Given the description of an element on the screen output the (x, y) to click on. 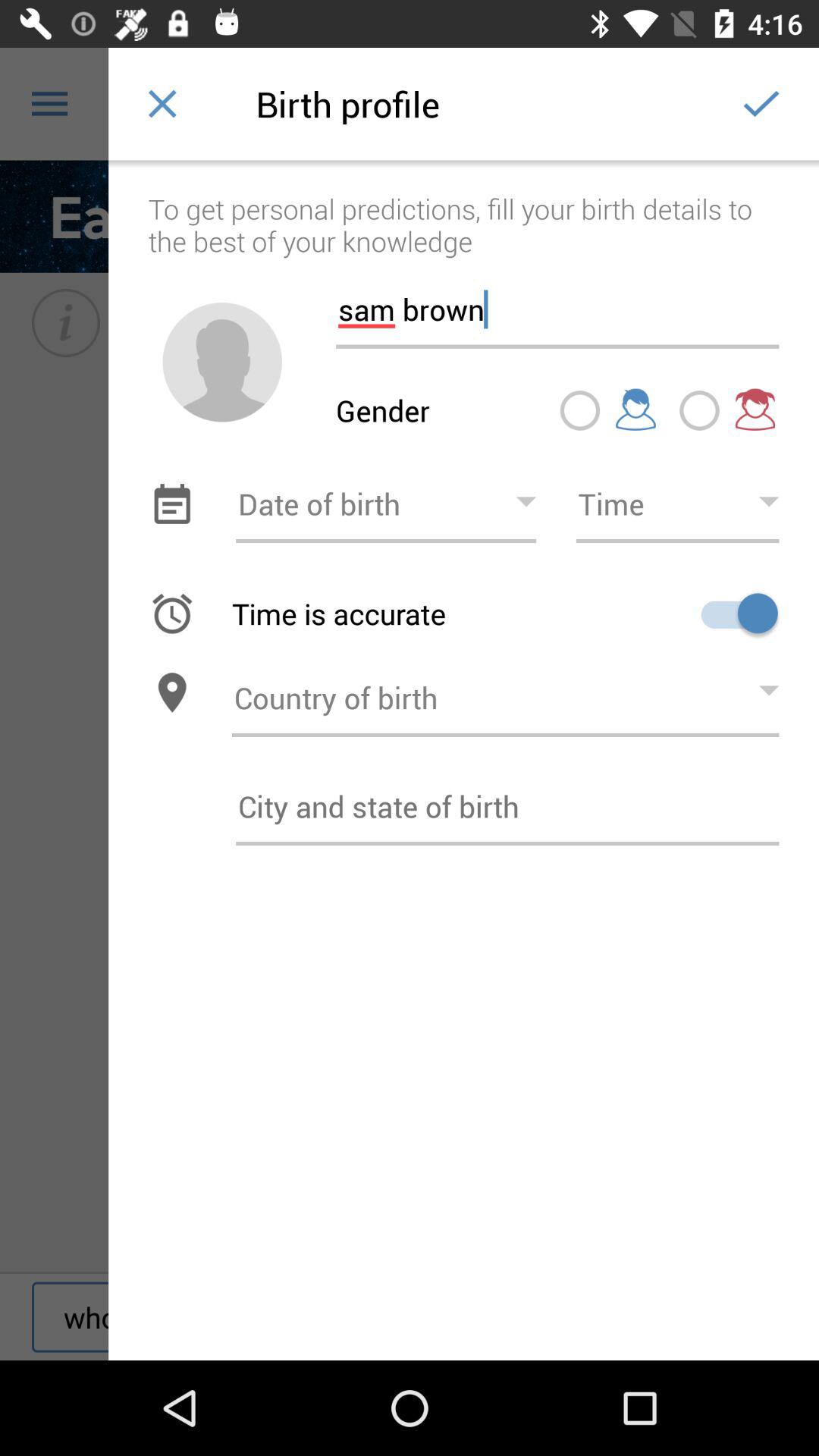
toggle option for time accuracy (734, 613)
